Given the description of an element on the screen output the (x, y) to click on. 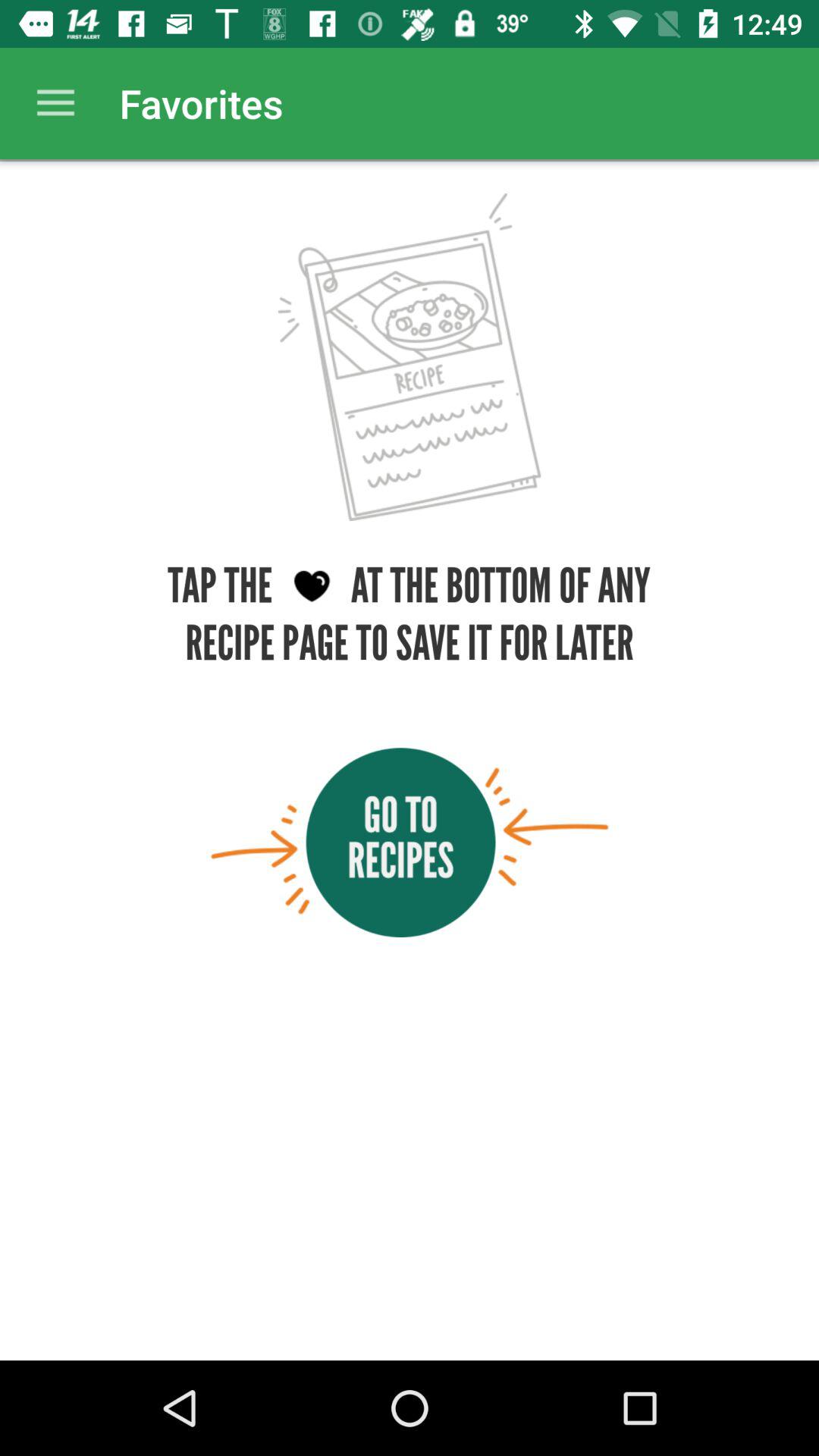
go to recipes (409, 842)
